Given the description of an element on the screen output the (x, y) to click on. 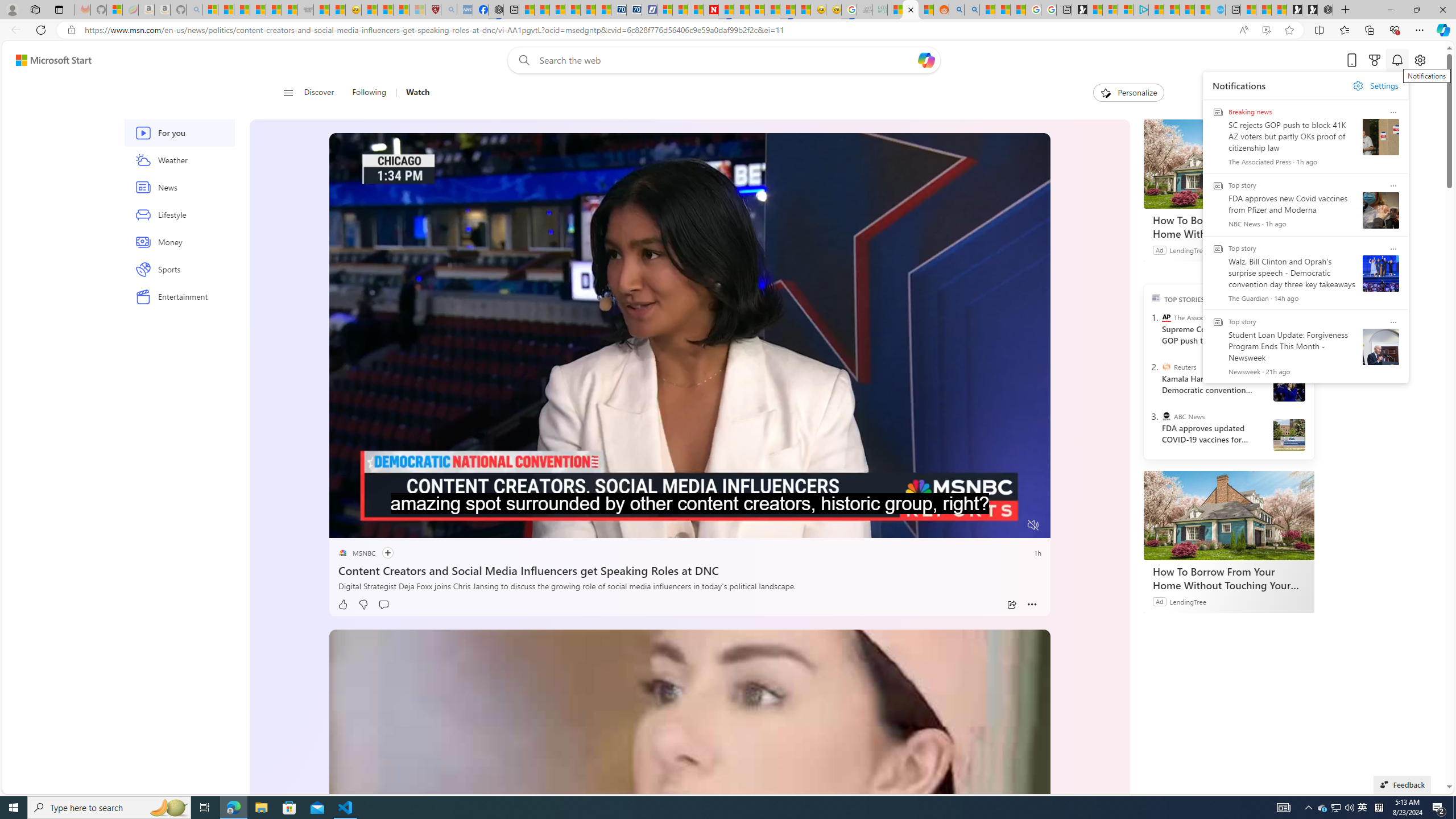
How To Borrow From Your Home Without Touching Your Mortgage (1228, 515)
Home | Sky Blue Bikes - Sky Blue Bikes (1217, 9)
 Harris and Walz campaign in Wisconsin (1288, 385)
Follow (381, 553)
Card Action (1393, 322)
Quality Settings (964, 525)
